Given the description of an element on the screen output the (x, y) to click on. 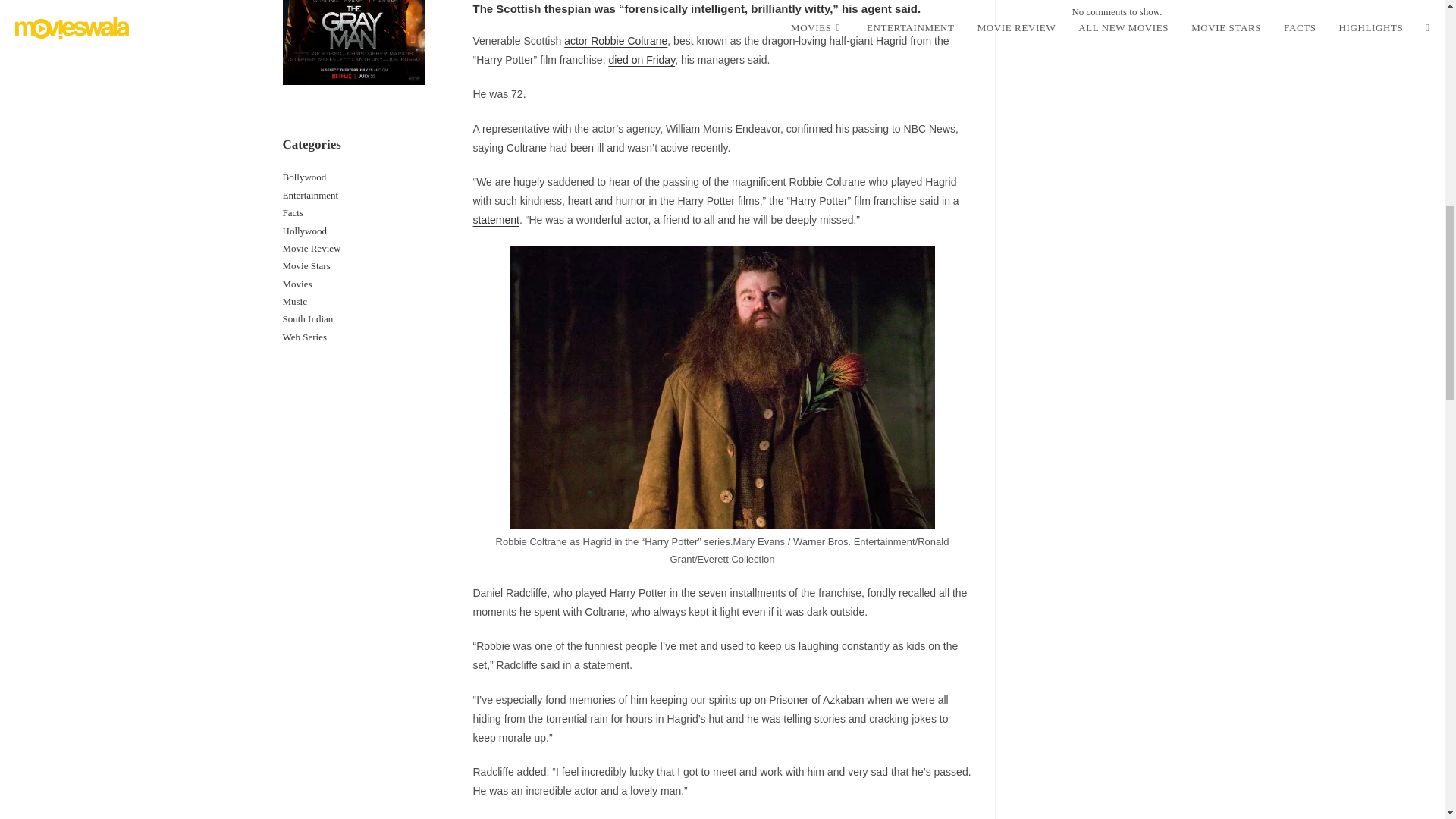
died on Friday (641, 60)
statement (496, 219)
actor Robbie Coltrane (615, 40)
